Given the description of an element on the screen output the (x, y) to click on. 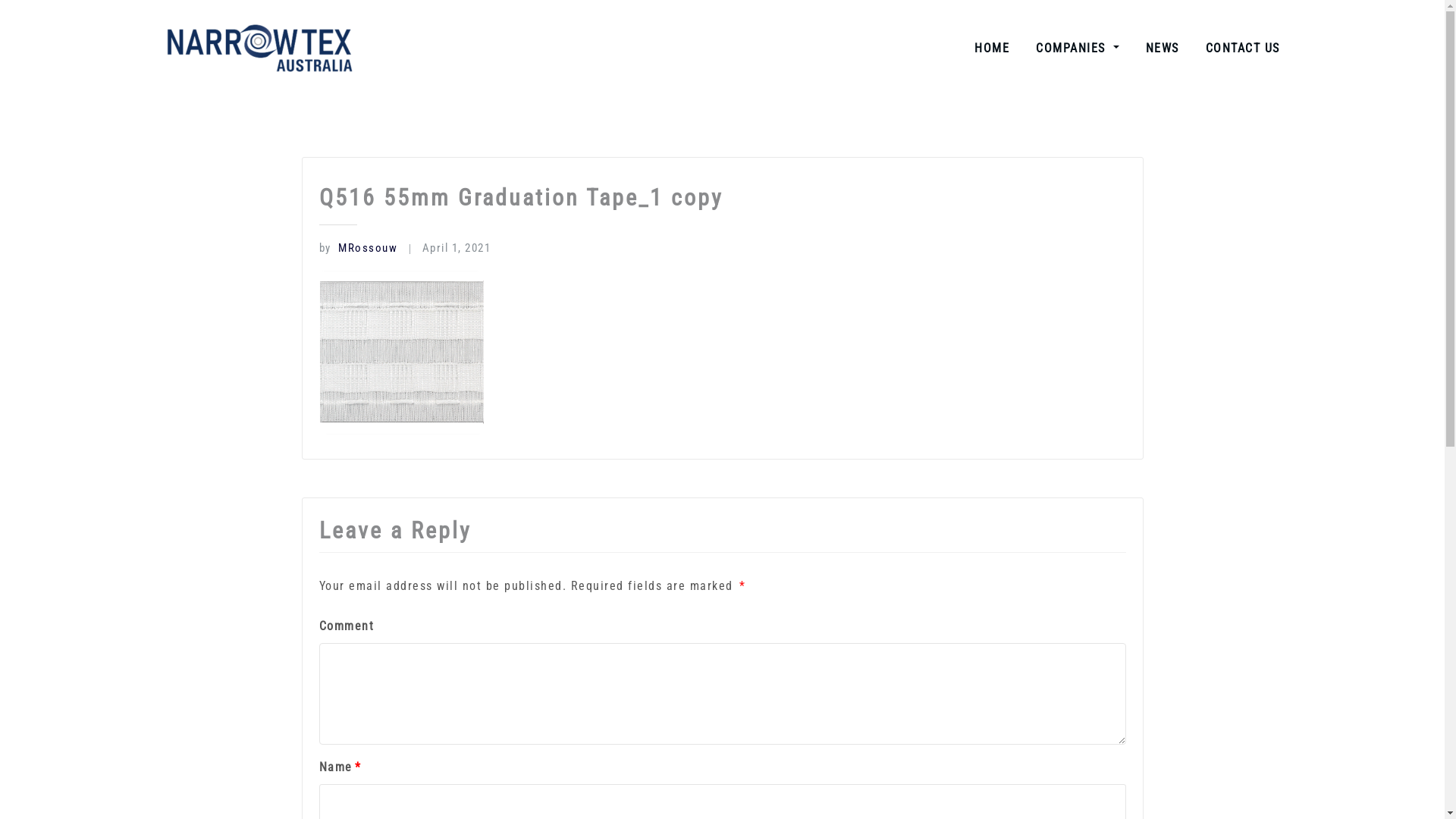
April 1, 2021 Element type: text (456, 247)
by MRossouw Element type: text (357, 247)
HOME Element type: text (991, 48)
COMPANIES Element type: text (1076, 48)
NEWS Element type: text (1161, 48)
CONTACT US Element type: text (1242, 48)
